Given the description of an element on the screen output the (x, y) to click on. 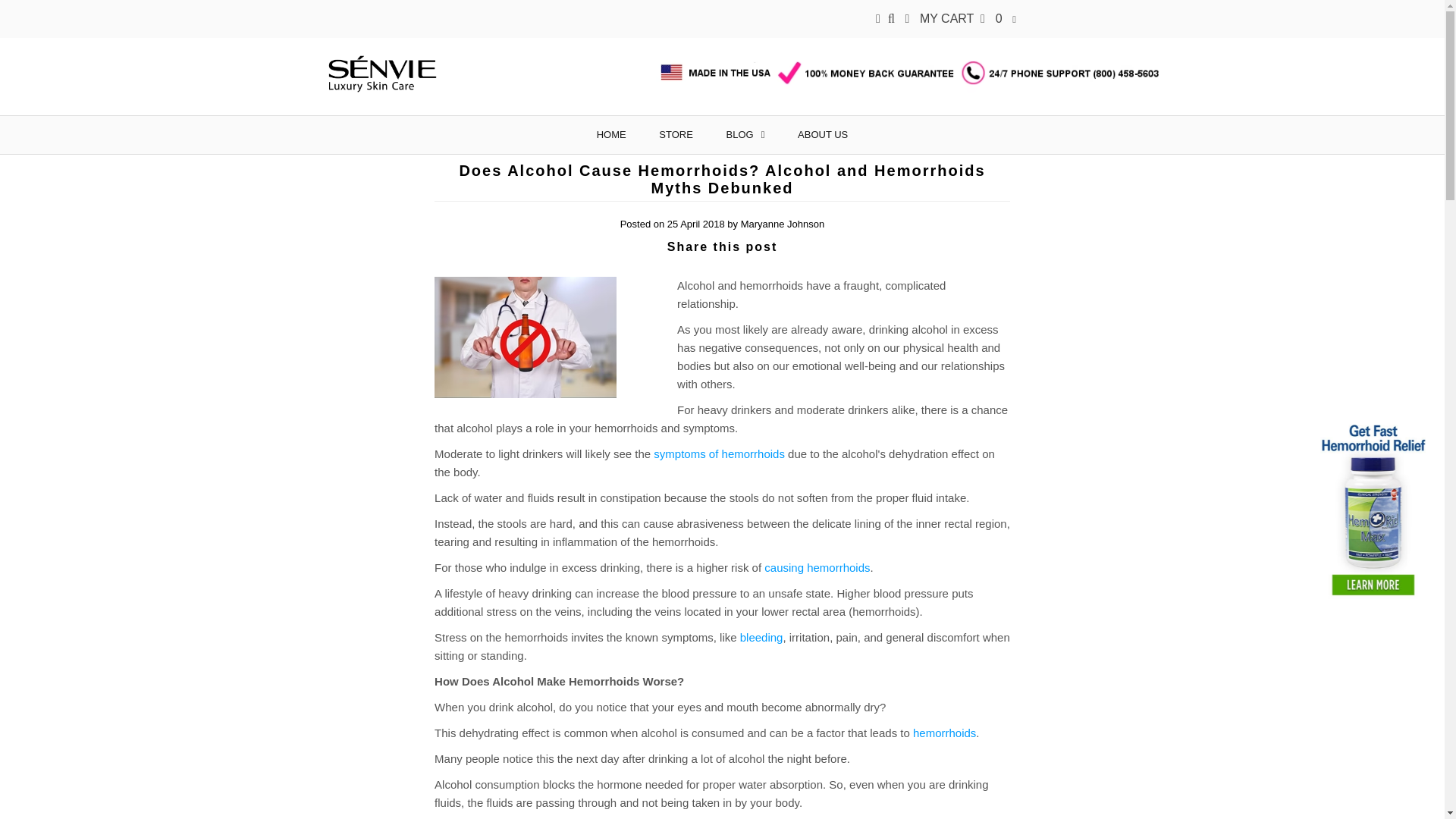
HOME (611, 134)
BLOG (745, 134)
MY CART    0 (961, 18)
STORE (675, 134)
